Given the description of an element on the screen output the (x, y) to click on. 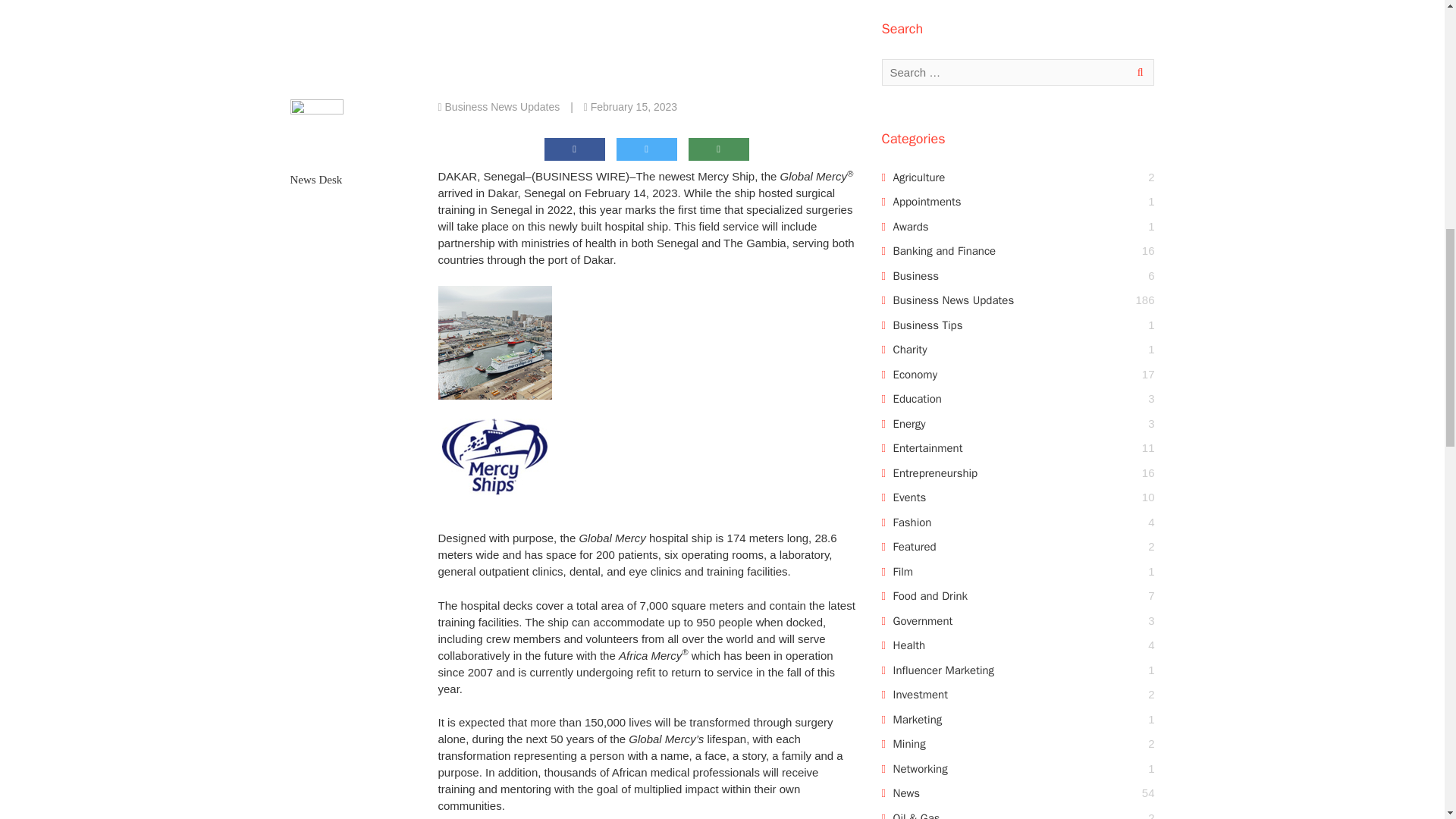
Search (1136, 71)
News Desk (315, 179)
Business News Updates (502, 106)
Posts by News Desk (315, 179)
Category Added in a WPeMatico Campaign (953, 300)
Search (1136, 71)
Information on financial activity (944, 250)
